Given the description of an element on the screen output the (x, y) to click on. 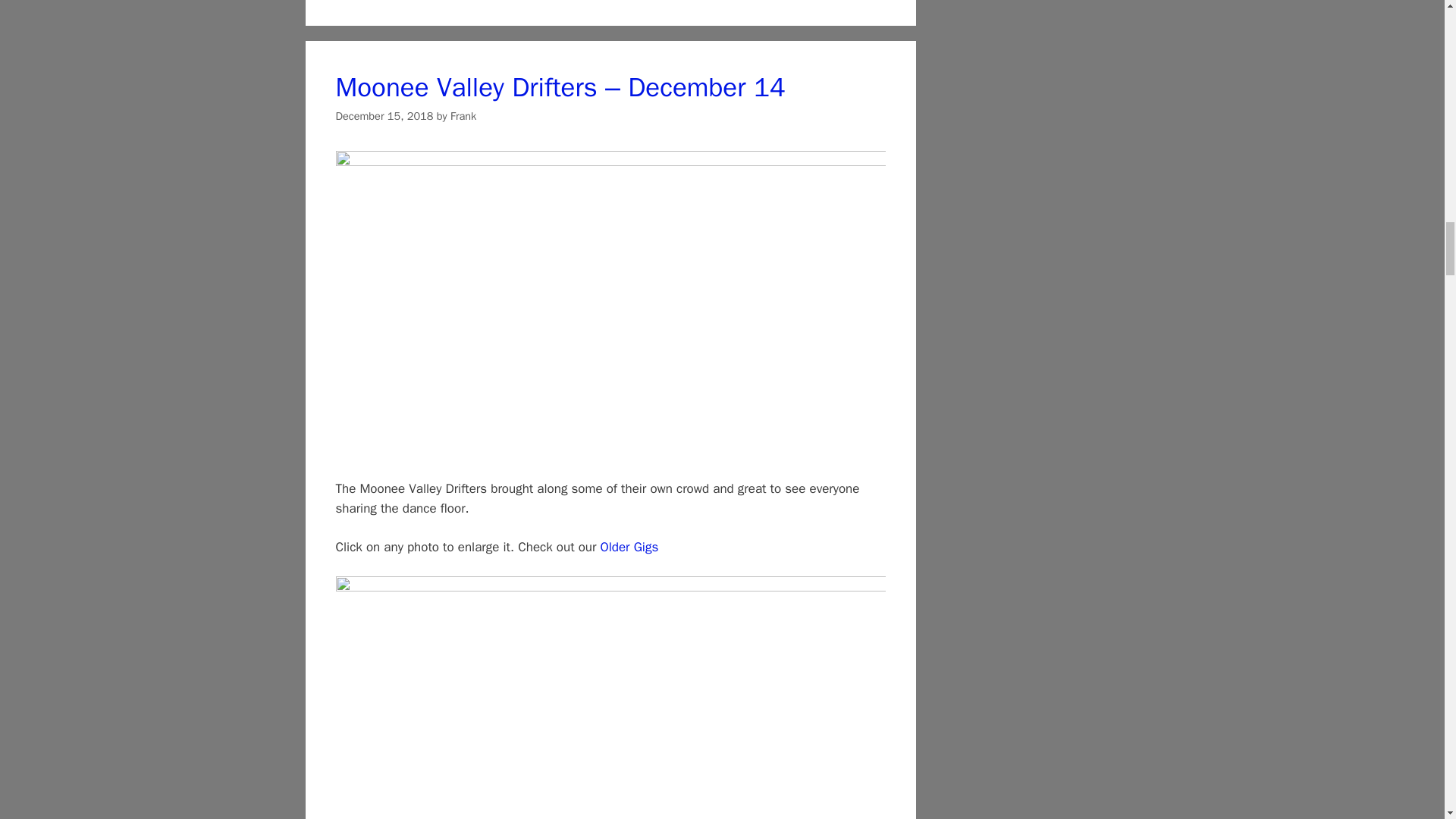
Older Gigs (629, 546)
View all posts by Frank (462, 115)
Frank (462, 115)
